Given the description of an element on the screen output the (x, y) to click on. 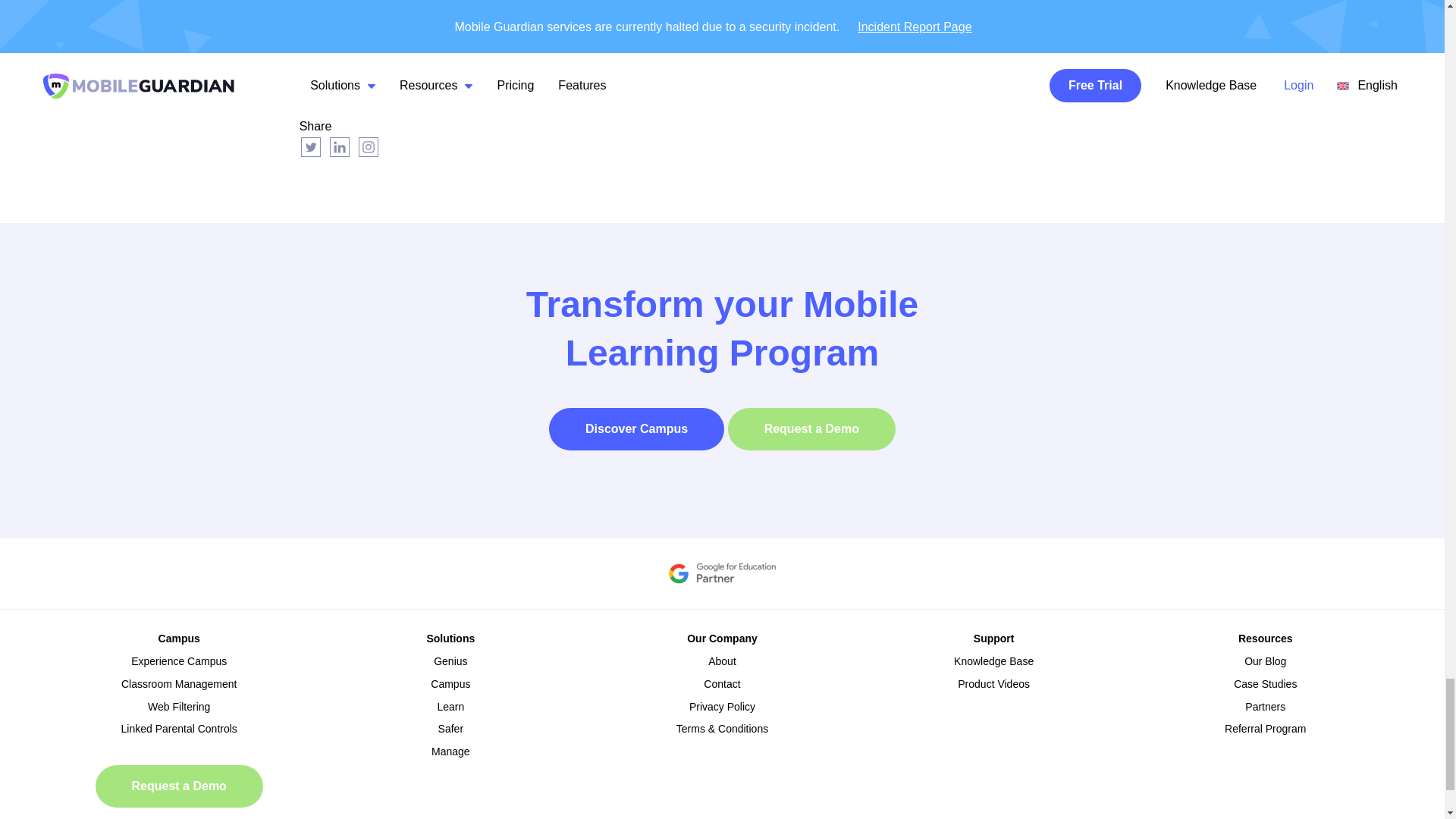
Twitter (310, 147)
Linkedin (339, 147)
Instagram (368, 147)
